Given the description of an element on the screen output the (x, y) to click on. 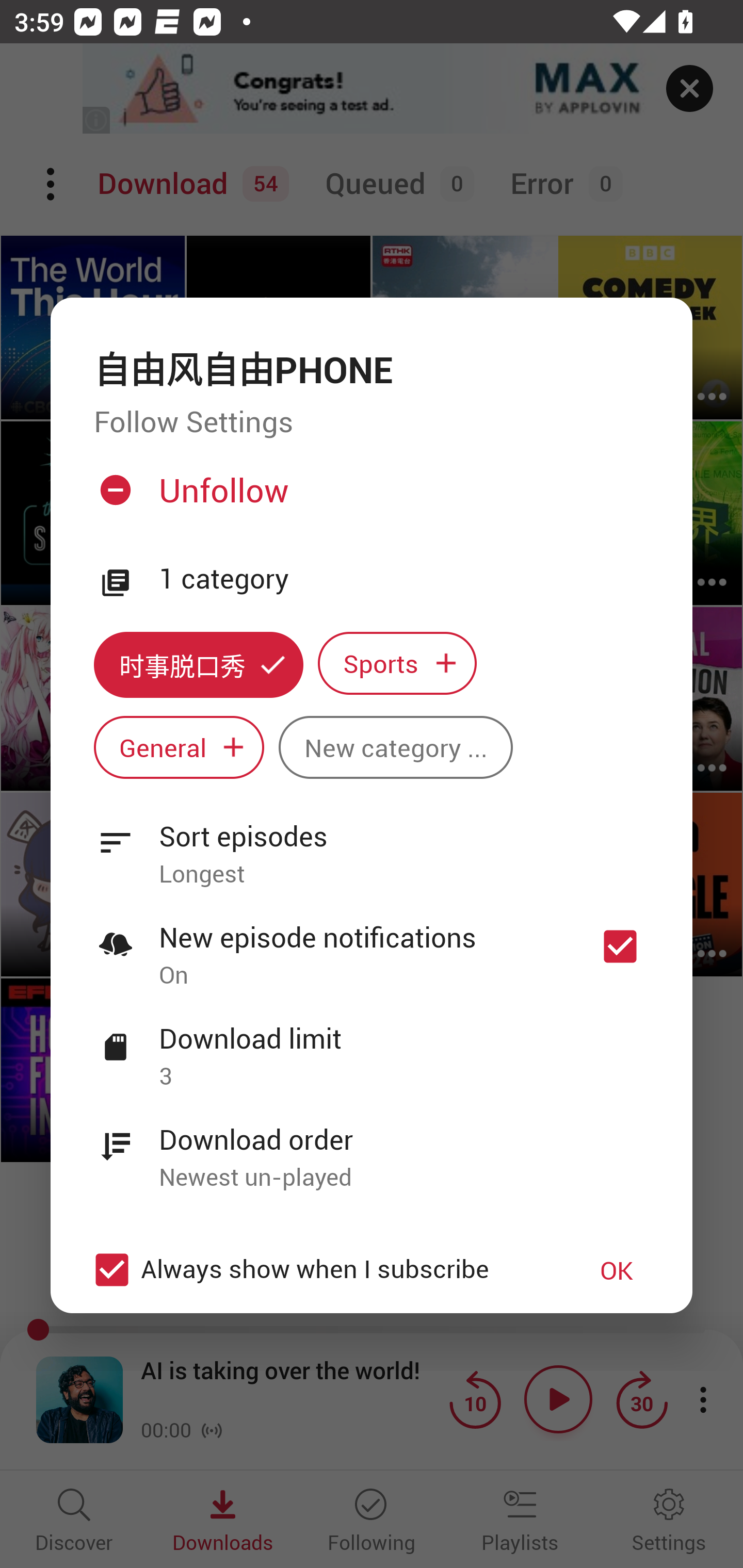
Unfollow (369, 498)
1 category (404, 578)
时事脱口秀 (198, 664)
Sports (397, 662)
General (178, 747)
New category ... (395, 747)
Sort episodes Longest (371, 843)
New episode notifications (620, 946)
Download limit 3 (371, 1045)
Download order Newest un-played (371, 1146)
OK (616, 1269)
Always show when I subscribe (320, 1269)
